Given the description of an element on the screen output the (x, y) to click on. 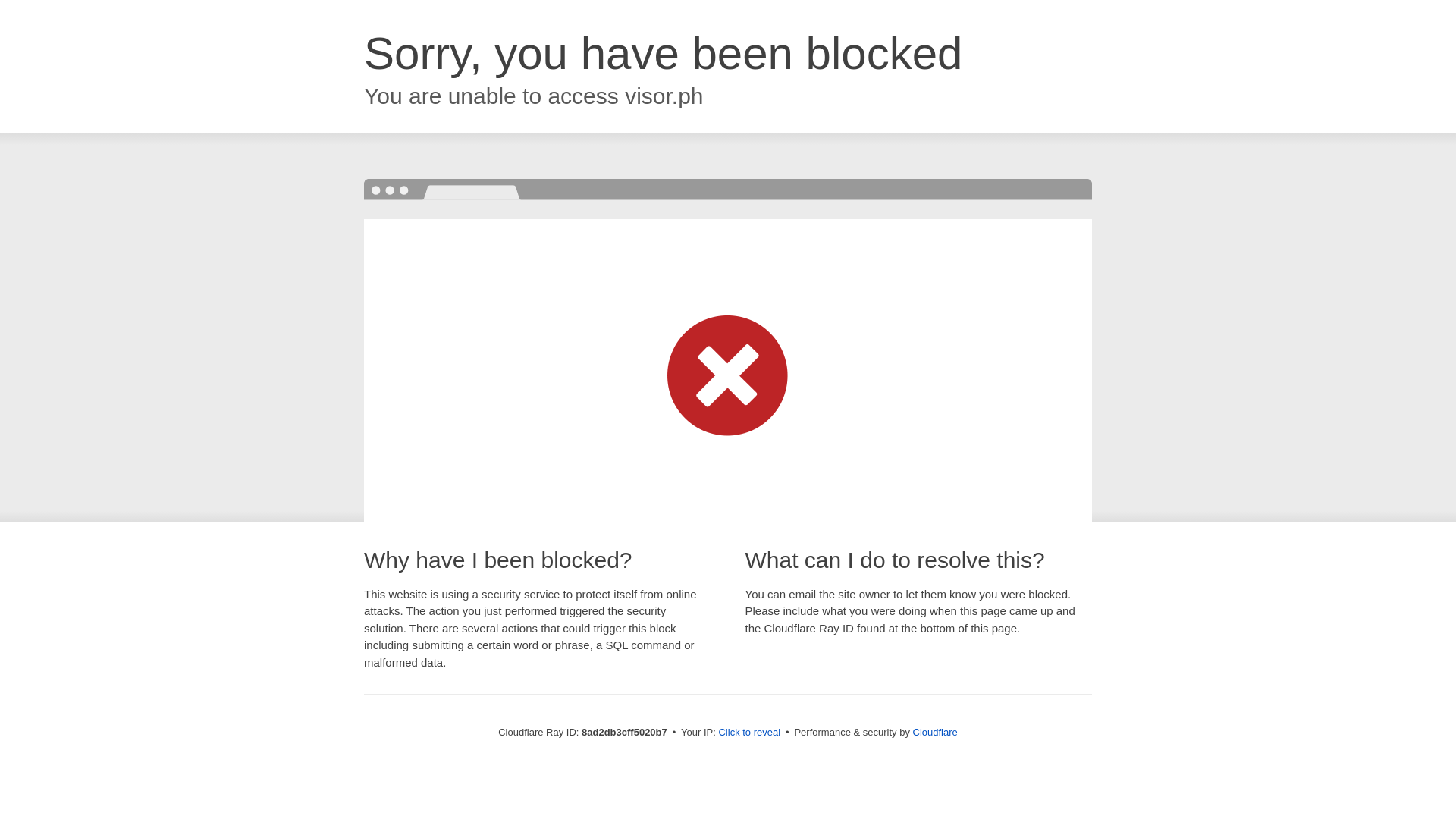
Click to reveal (748, 732)
Cloudflare (935, 731)
